Given the description of an element on the screen output the (x, y) to click on. 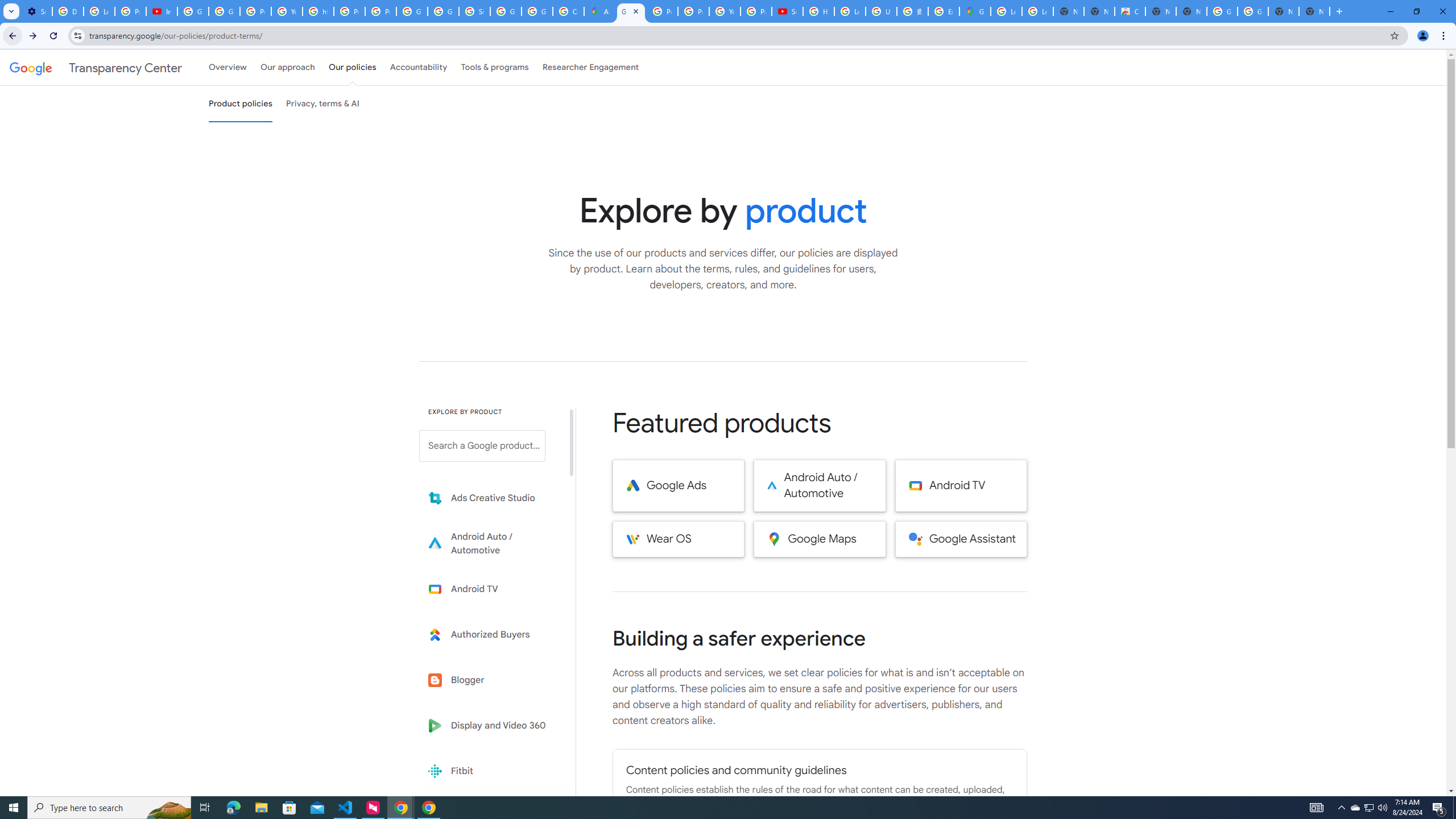
Google Account Help (192, 11)
Product policies (239, 103)
Blogger (490, 679)
Display and Video 360 (490, 725)
Accountability (418, 67)
Fitbit (490, 770)
Google Images (1252, 11)
Blogger (490, 679)
Wear OS (678, 538)
Android Auto / Automotive (820, 485)
Learn more about Android TV (490, 588)
Learn more about Ads Creative Studio (490, 497)
